Given the description of an element on the screen output the (x, y) to click on. 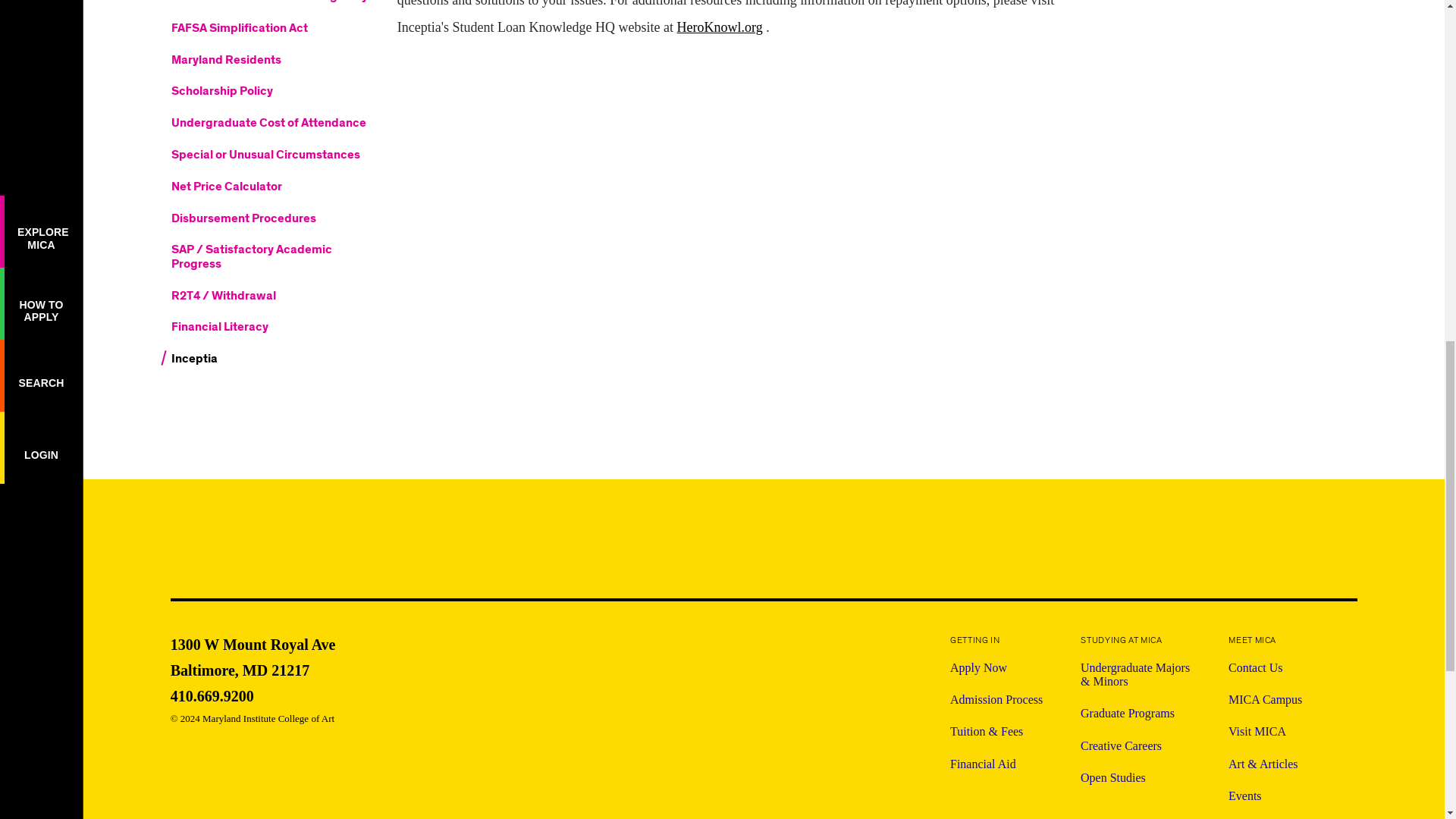
Apply Now (996, 667)
Inceptia (270, 361)
YouTube (1183, 548)
Financial Literacy (270, 329)
Maryland Residents (270, 62)
HeroKnowl.org (719, 27)
FAFSA Simplification Act (270, 30)
Disbursement Procedures (270, 220)
Facebook (1261, 546)
Need-Based Financial Aid Eligibility (253, 654)
Net Price Calculator (270, 5)
410.669.9200 (270, 189)
Twitter (253, 696)
Scholarship Policy (1302, 547)
